Given the description of an element on the screen output the (x, y) to click on. 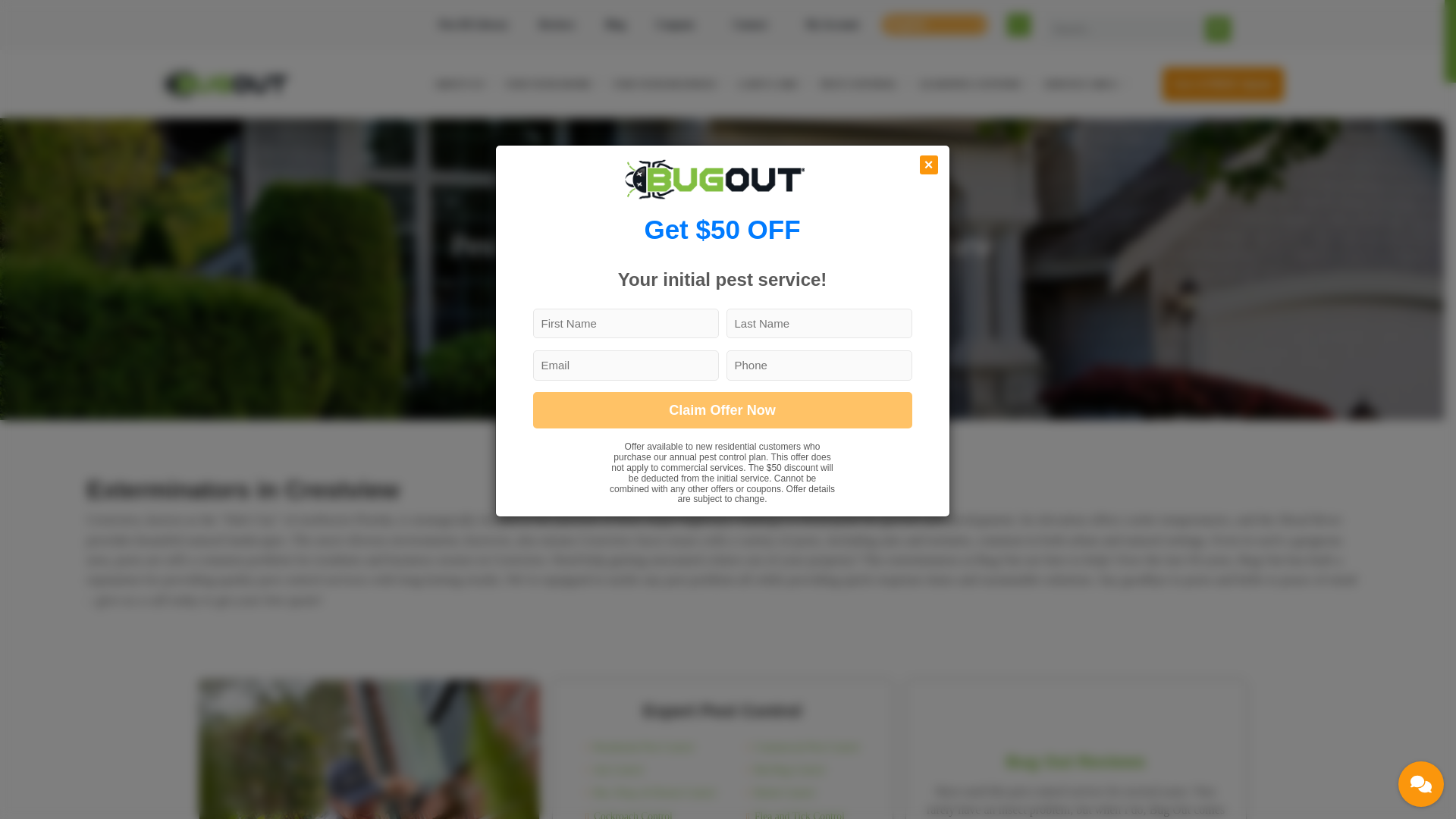
Claim Offer Now (721, 410)
Reviews (557, 24)
FOR YOUR BUSINESS (670, 83)
My Account (836, 24)
FOR YOUR HOME (553, 83)
Coupons (678, 24)
Contact (753, 24)
Pest ID Library (473, 24)
Chat with us now! (1420, 783)
Blog (614, 24)
ABOUT US (463, 83)
